Given the description of an element on the screen output the (x, y) to click on. 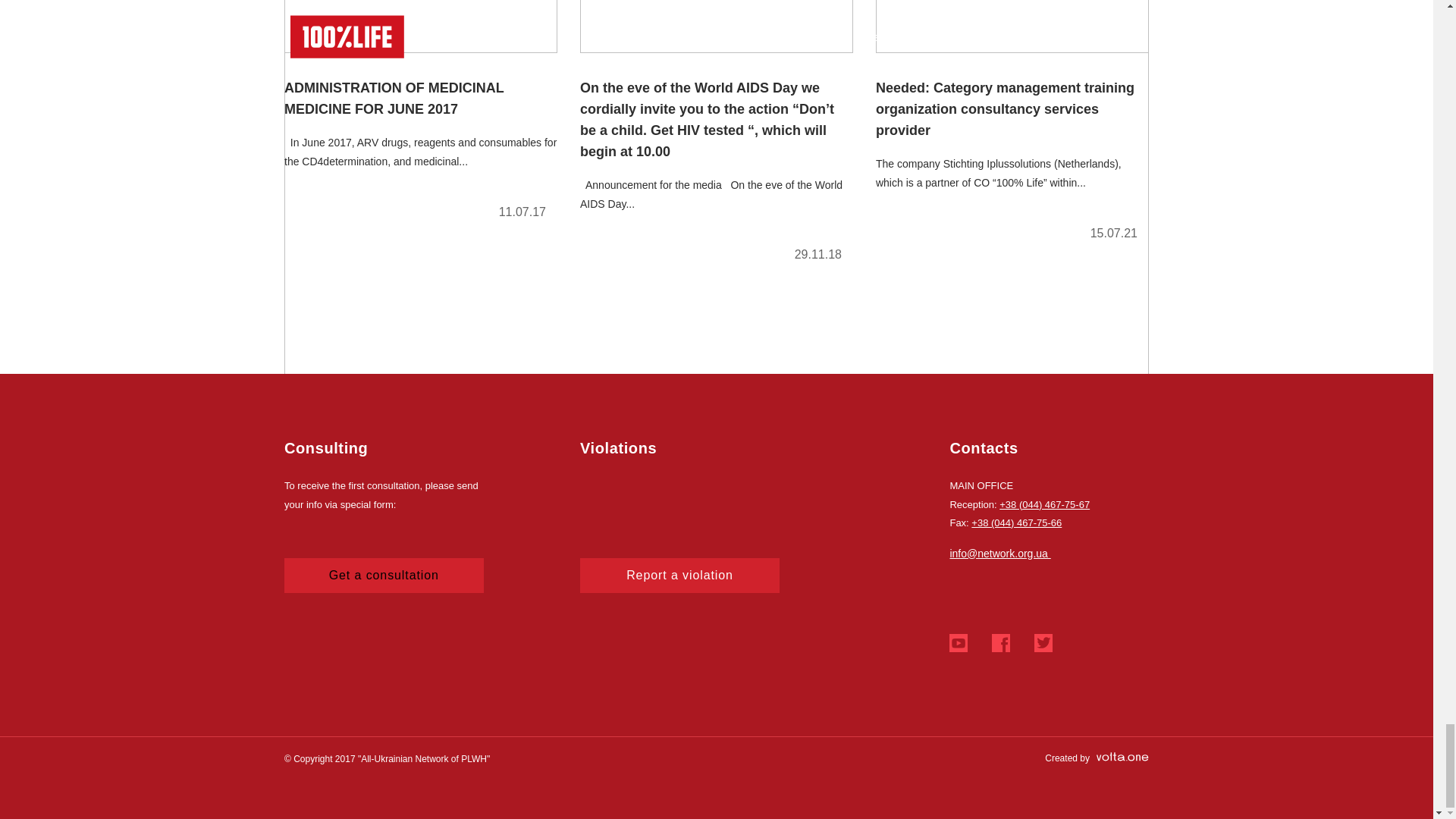
Report a violation (678, 574)
Get a consultation (383, 574)
Get a consultation (383, 574)
Created by (1096, 757)
ADMINISTRATION OF MEDICINAL MEDICINE FOR JUNE 2017 (420, 116)
Report a violation (678, 574)
